Given the description of an element on the screen output the (x, y) to click on. 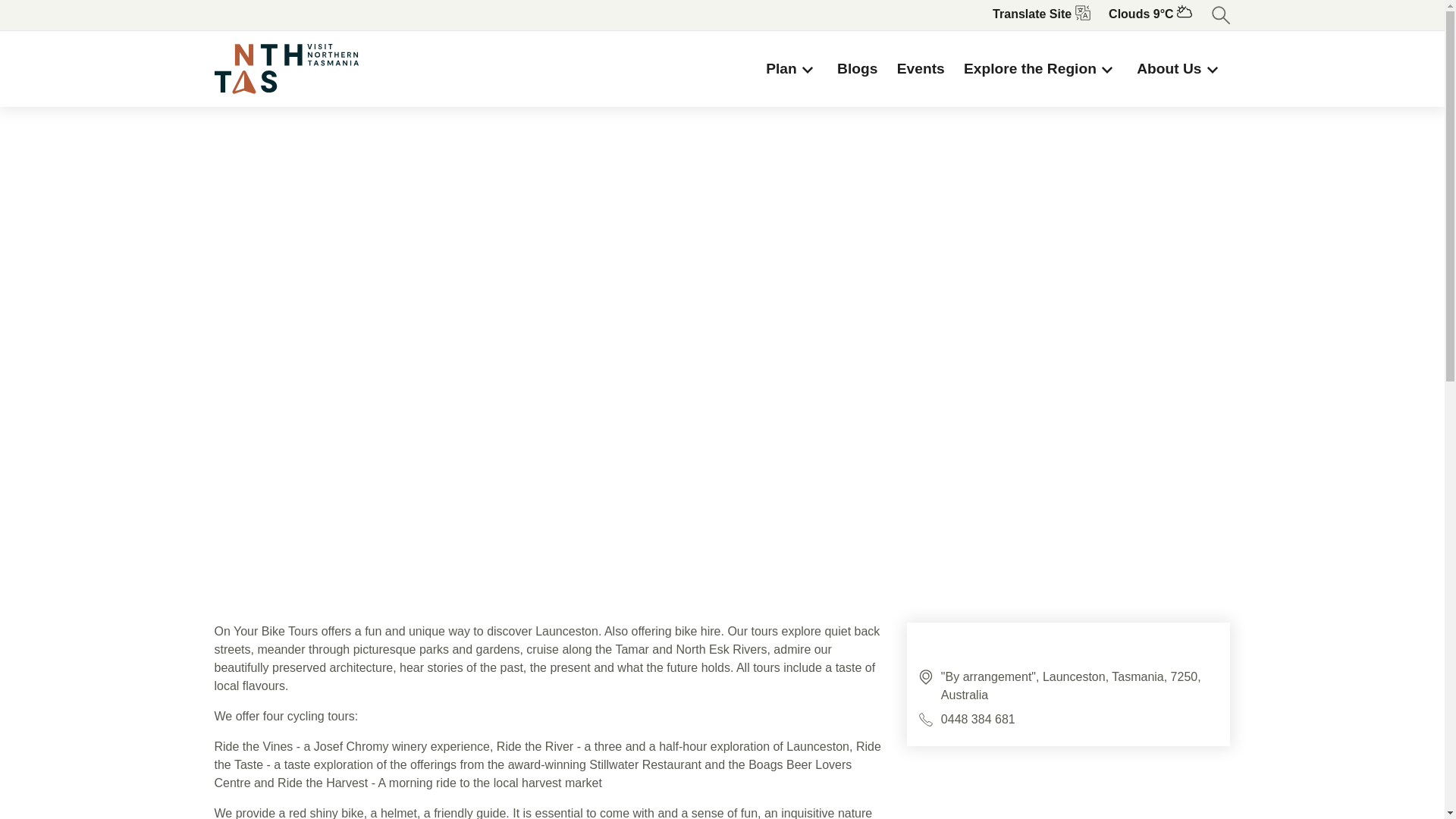
Plan (791, 69)
About Us (1179, 69)
Explore the Region (1040, 69)
